Given the description of an element on the screen output the (x, y) to click on. 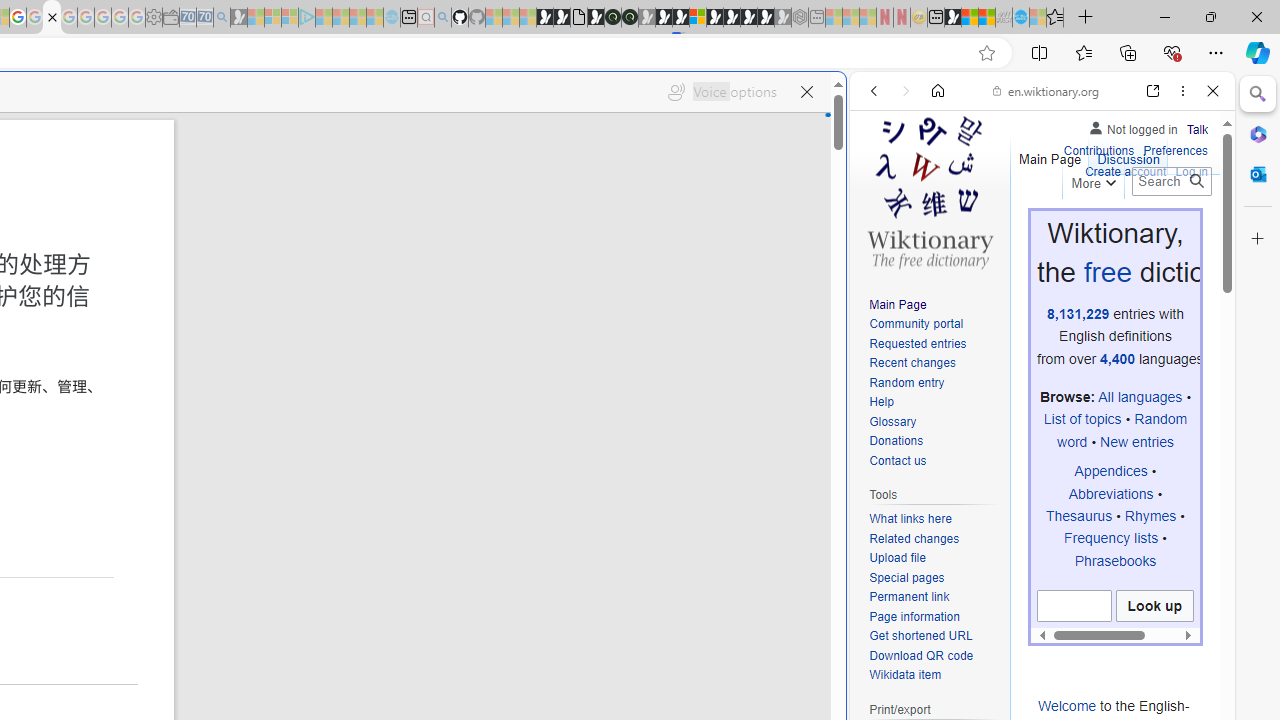
Play Free Online Games | Games from Microsoft Start (731, 17)
IMAGES (939, 228)
Home | Sky Blue Bikes - Sky Blue Bikes (687, 426)
Wikidata item (934, 676)
Phrasebooks (1115, 560)
Talk (1197, 129)
Download QR code (934, 655)
Discussion (1128, 154)
Play Zoo Boom in your browser | Games from Microsoft Start (561, 17)
Help (881, 402)
What links here (934, 519)
